Given the description of an element on the screen output the (x, y) to click on. 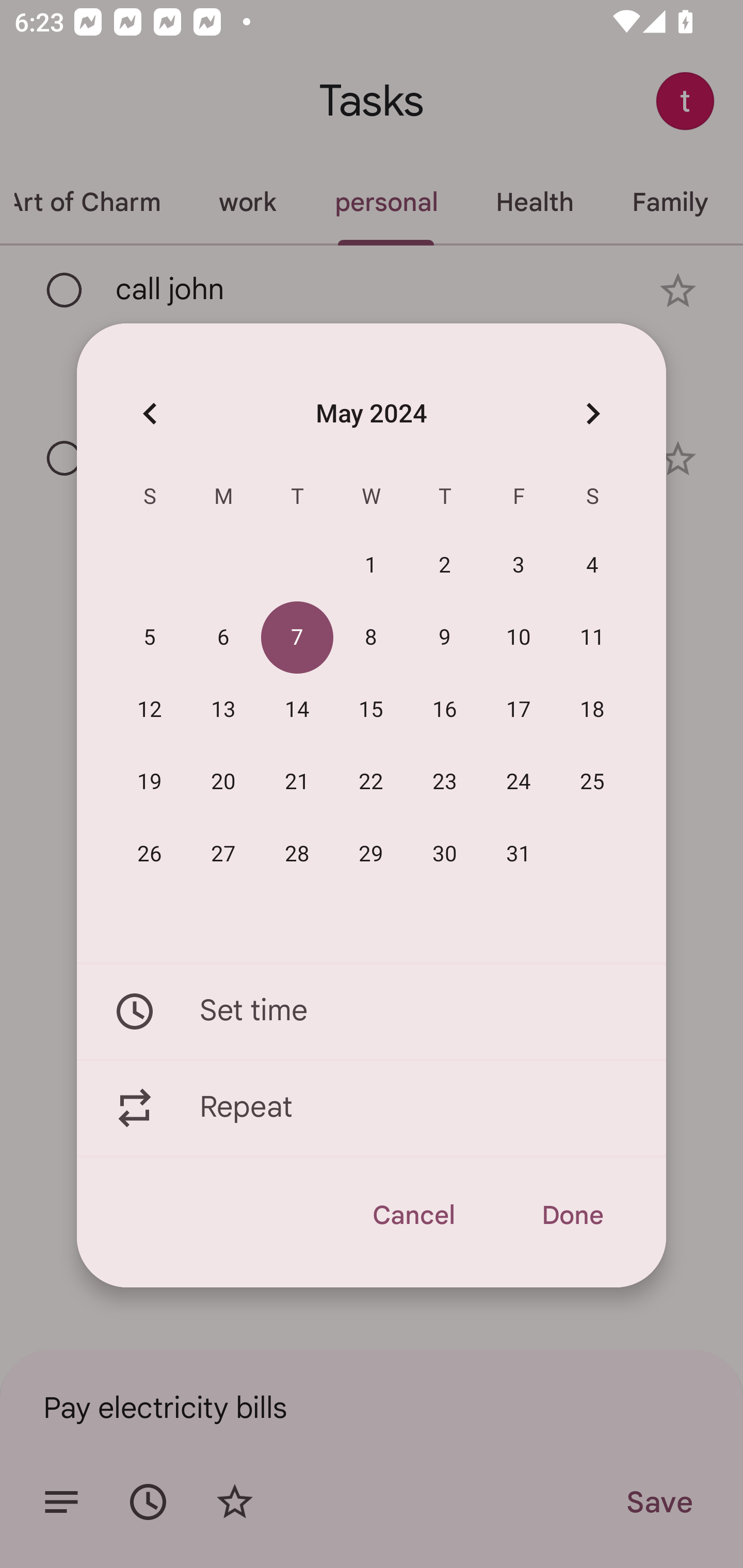
Previous month (149, 413)
Next month (592, 413)
1 01 May 2024 (370, 565)
2 02 May 2024 (444, 565)
3 03 May 2024 (518, 565)
4 04 May 2024 (592, 565)
5 05 May 2024 (149, 638)
6 06 May 2024 (223, 638)
7 07 May 2024 (297, 638)
8 08 May 2024 (370, 638)
9 09 May 2024 (444, 638)
10 10 May 2024 (518, 638)
11 11 May 2024 (592, 638)
12 12 May 2024 (149, 710)
13 13 May 2024 (223, 710)
14 14 May 2024 (297, 710)
15 15 May 2024 (370, 710)
16 16 May 2024 (444, 710)
17 17 May 2024 (518, 710)
18 18 May 2024 (592, 710)
19 19 May 2024 (149, 782)
20 20 May 2024 (223, 782)
21 21 May 2024 (297, 782)
22 22 May 2024 (370, 782)
23 23 May 2024 (444, 782)
24 24 May 2024 (518, 782)
25 25 May 2024 (592, 782)
26 26 May 2024 (149, 854)
27 27 May 2024 (223, 854)
28 28 May 2024 (297, 854)
29 29 May 2024 (370, 854)
30 30 May 2024 (444, 854)
31 31 May 2024 (518, 854)
Set time (371, 1011)
Repeat (371, 1108)
Cancel (412, 1215)
Done (571, 1215)
